Given the description of an element on the screen output the (x, y) to click on. 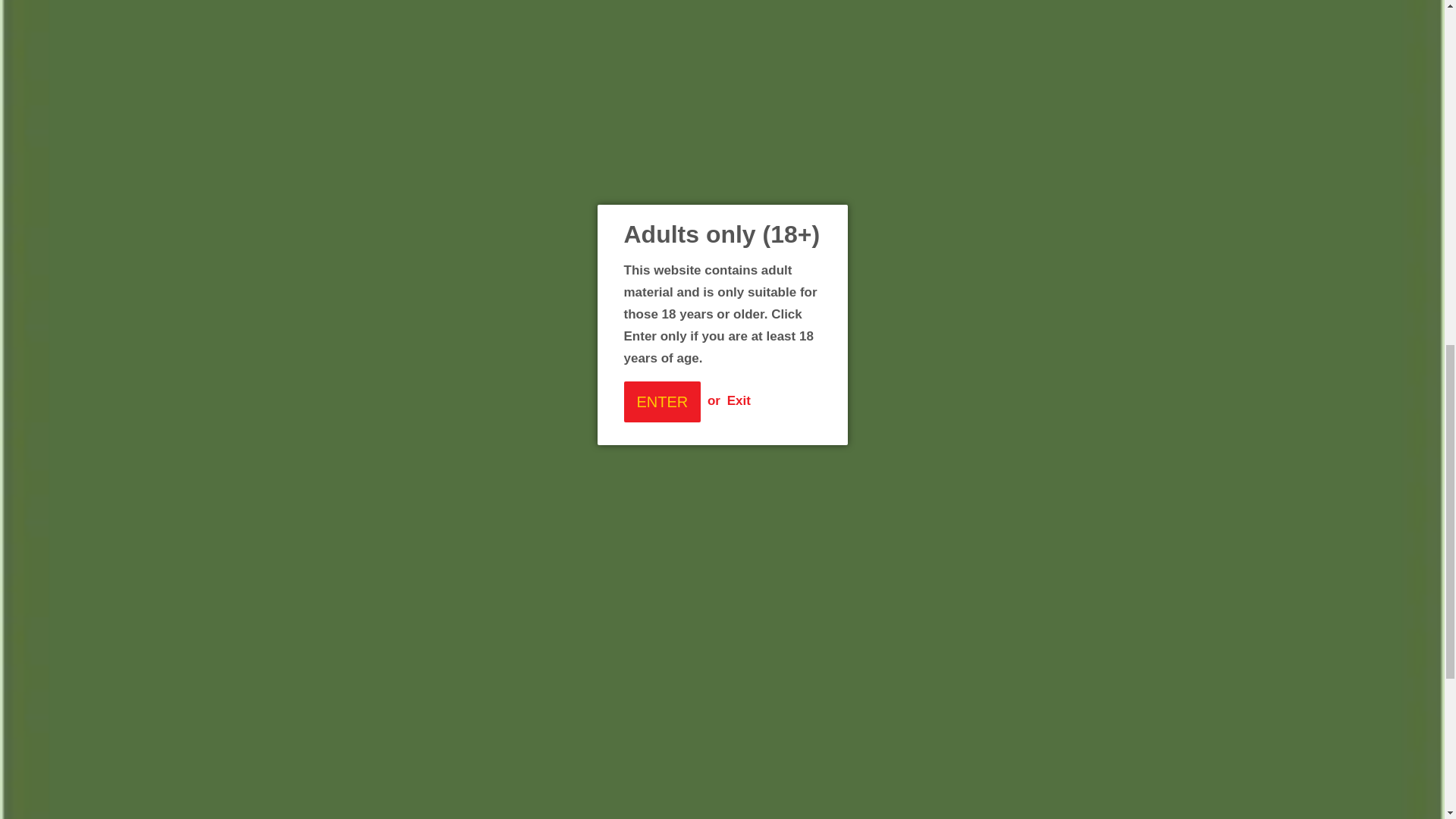
Subscribe (777, 722)
